Given the description of an element on the screen output the (x, y) to click on. 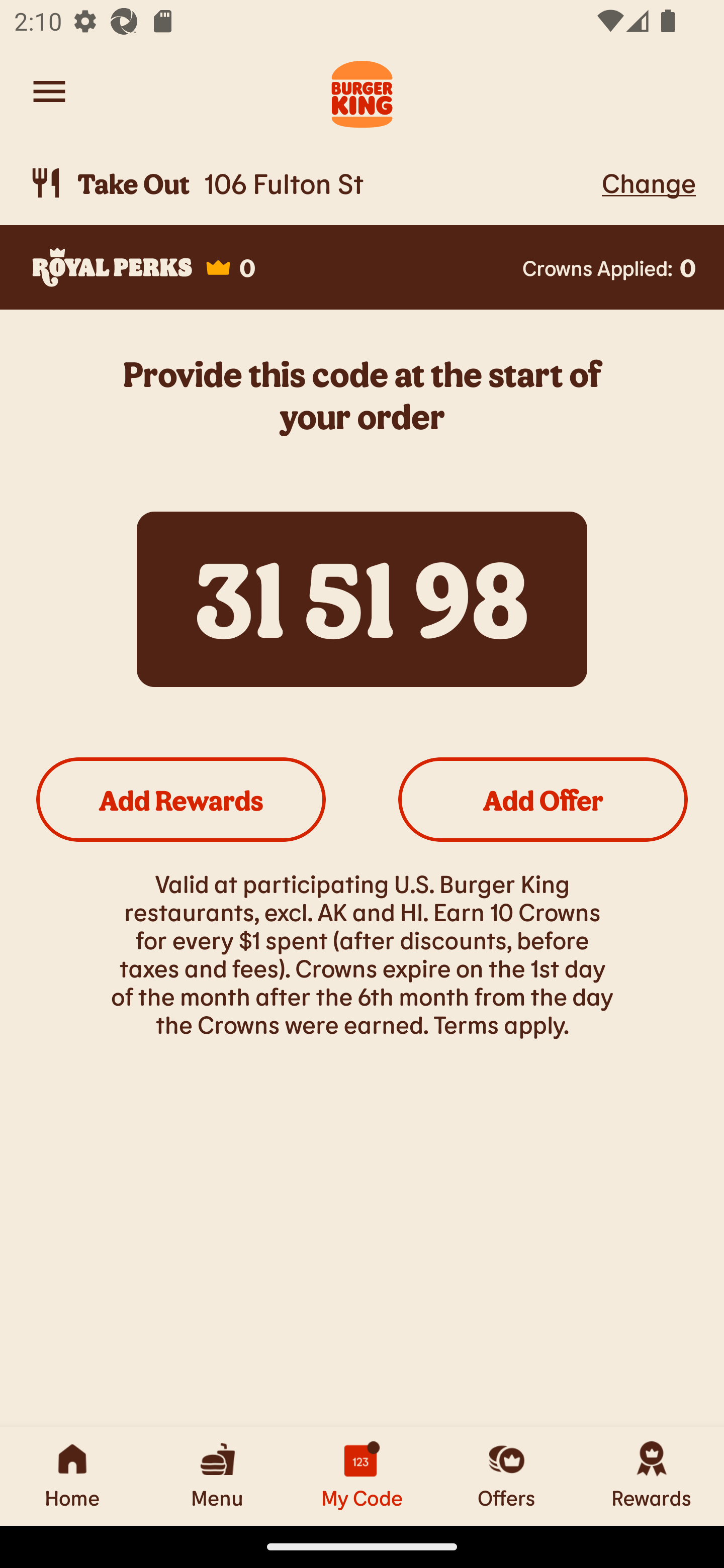
Burger King Logo. Navigate to Home (362, 91)
Navigate to account menu  (49, 91)
Take Out, 106 Fulton St  Take Out 106 Fulton St (311, 183)
Change (648, 182)
Add Rewards (180, 799)
Add Offer (542, 799)
Home (72, 1475)
Menu (216, 1475)
My Code (361, 1475)
Offers (506, 1475)
Rewards (651, 1475)
